Given the description of an element on the screen output the (x, y) to click on. 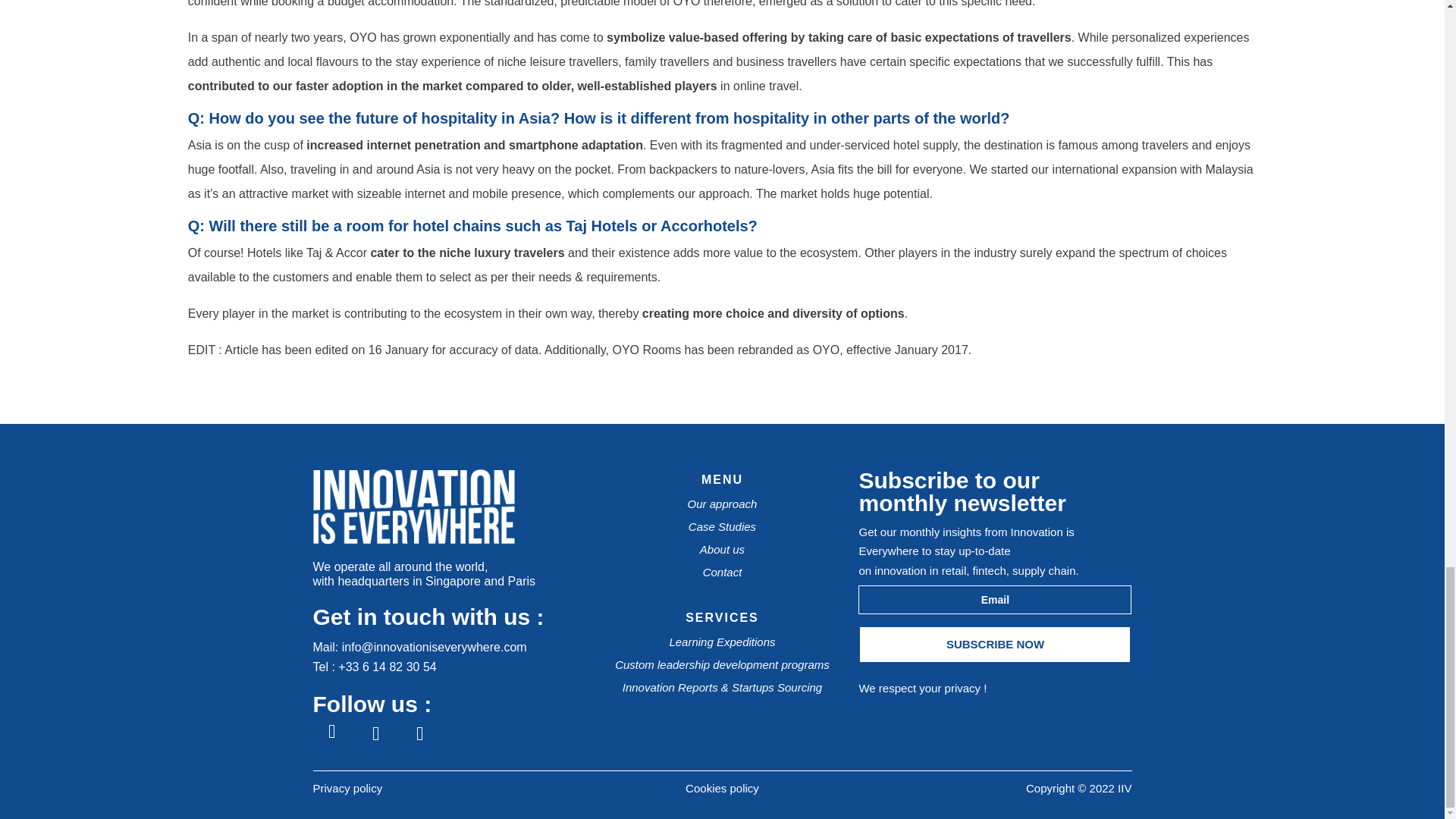
Follow on LinkedIn (375, 733)
Our approach (722, 503)
logo-iev-blanc (413, 540)
Follow on Facebook (331, 733)
Custom leadership development programs (721, 664)
Follow on X (419, 733)
